Given the description of an element on the screen output the (x, y) to click on. 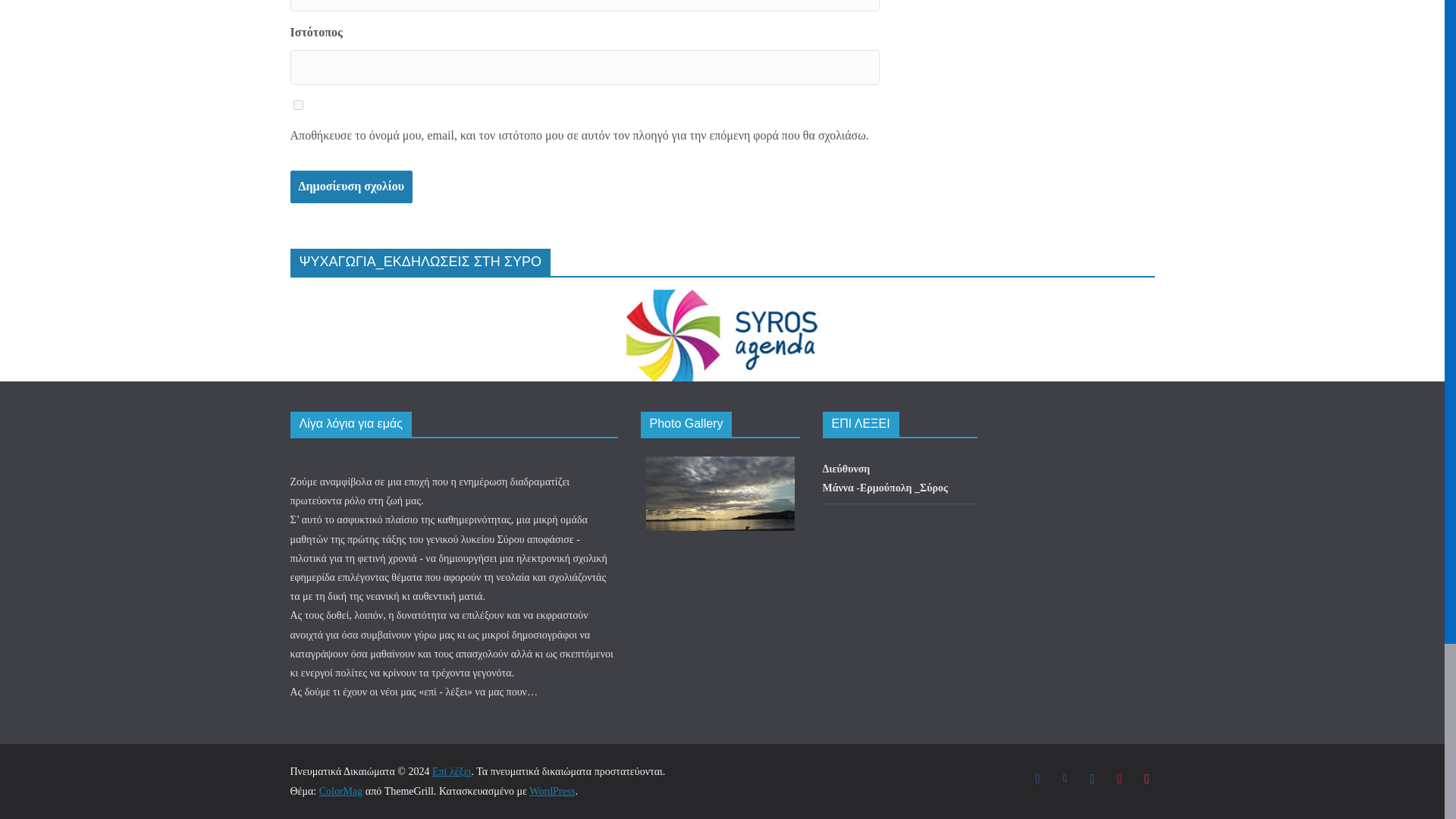
yes (297, 104)
